Given the description of an element on the screen output the (x, y) to click on. 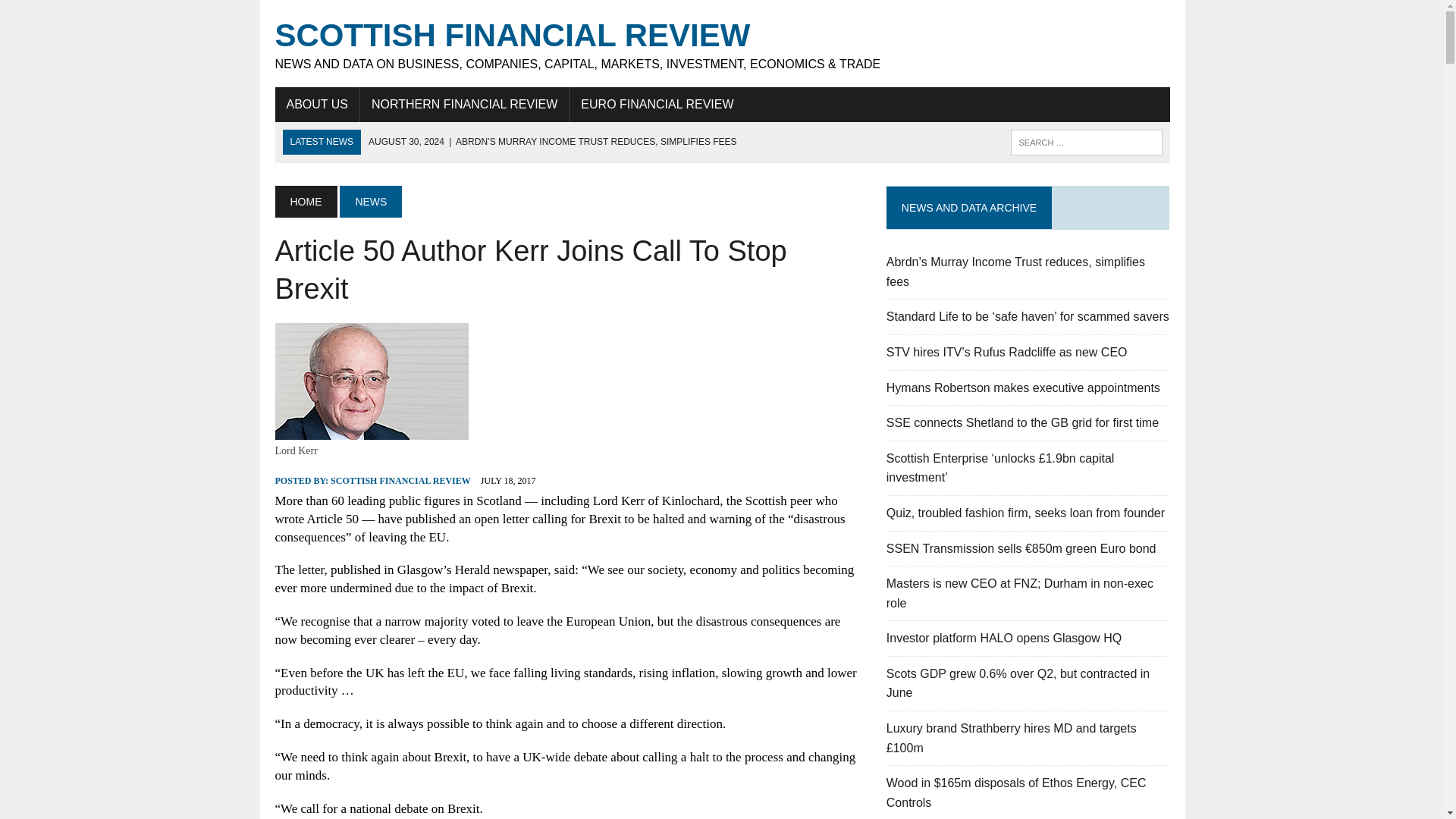
Quiz, troubled fashion firm, seeks loan from founder (1025, 512)
SSE connects Shetland to the GB grid for first time (1022, 422)
Investor platform HALO opens Glasgow HQ (1003, 637)
ABOUT US (317, 104)
Hymans Robertson makes executive appointments (1023, 387)
Search (75, 14)
EURO FINANCIAL REVIEW (656, 104)
HOME (305, 201)
Masters is new CEO at FNZ; Durham in non-exec role (1019, 593)
NORTHERN FINANCIAL REVIEW (464, 104)
